Given the description of an element on the screen output the (x, y) to click on. 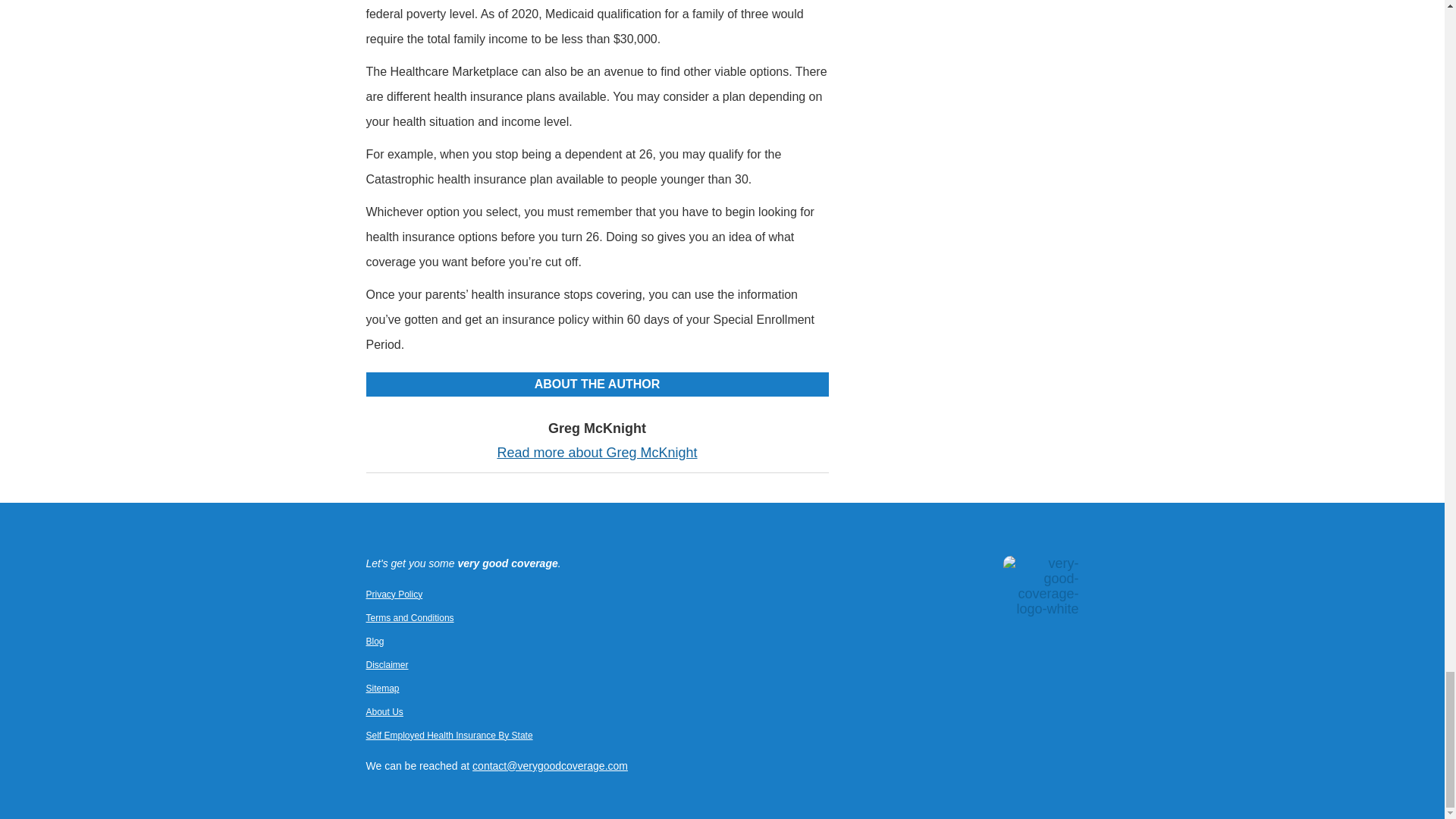
Disclaimer (386, 665)
Self Employed Health Insurance By State (448, 735)
Privacy Policy (393, 593)
Terms and Conditions (408, 617)
Sitemap (381, 688)
Read more about Greg McKnight (596, 452)
Blog (374, 641)
About Us (384, 711)
